Given the description of an element on the screen output the (x, y) to click on. 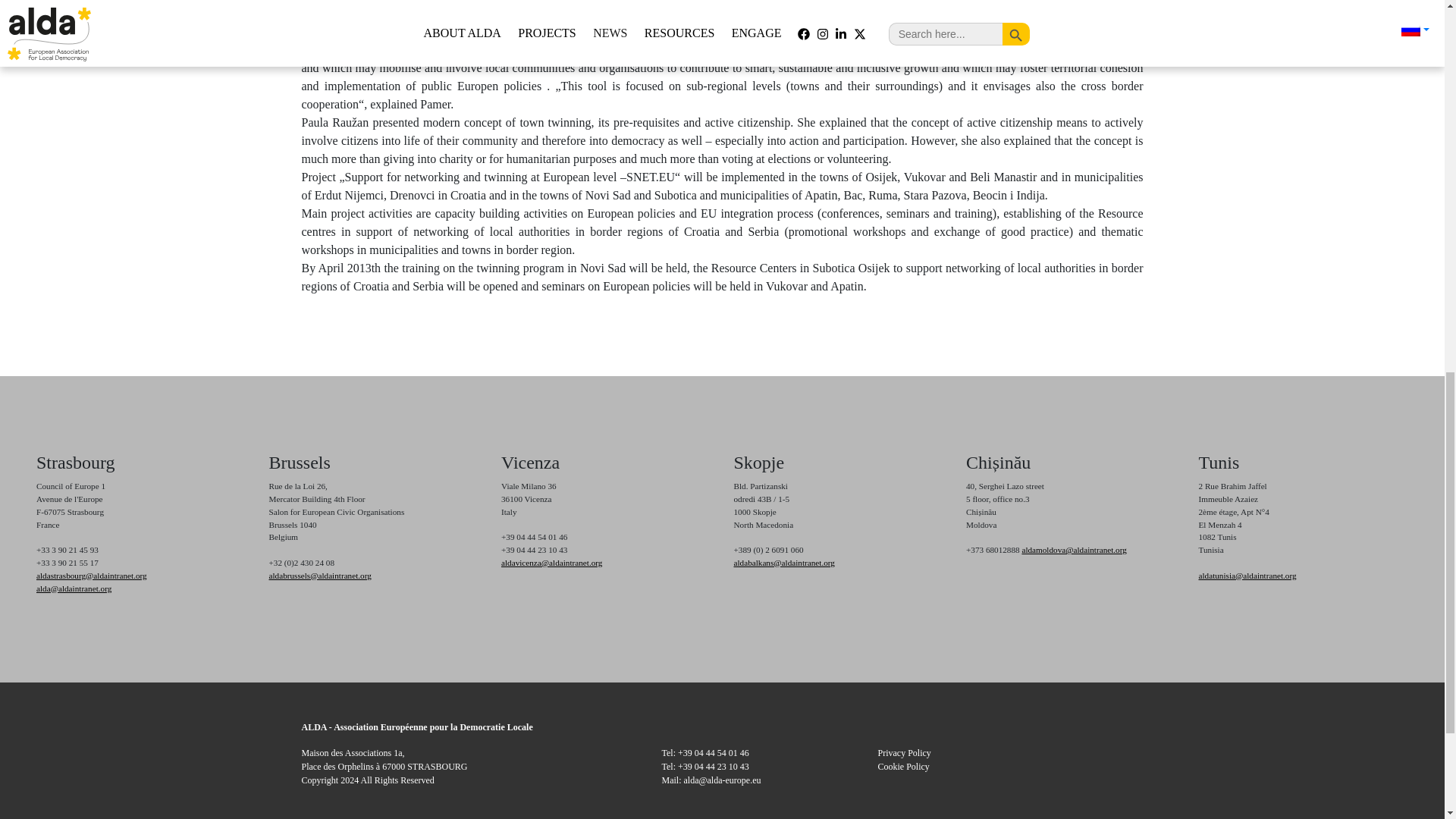
Privacy Policy  (904, 752)
Cookie Policy (903, 766)
Privacy Policy (904, 752)
Cookie Policy  (903, 766)
